Given the description of an element on the screen output the (x, y) to click on. 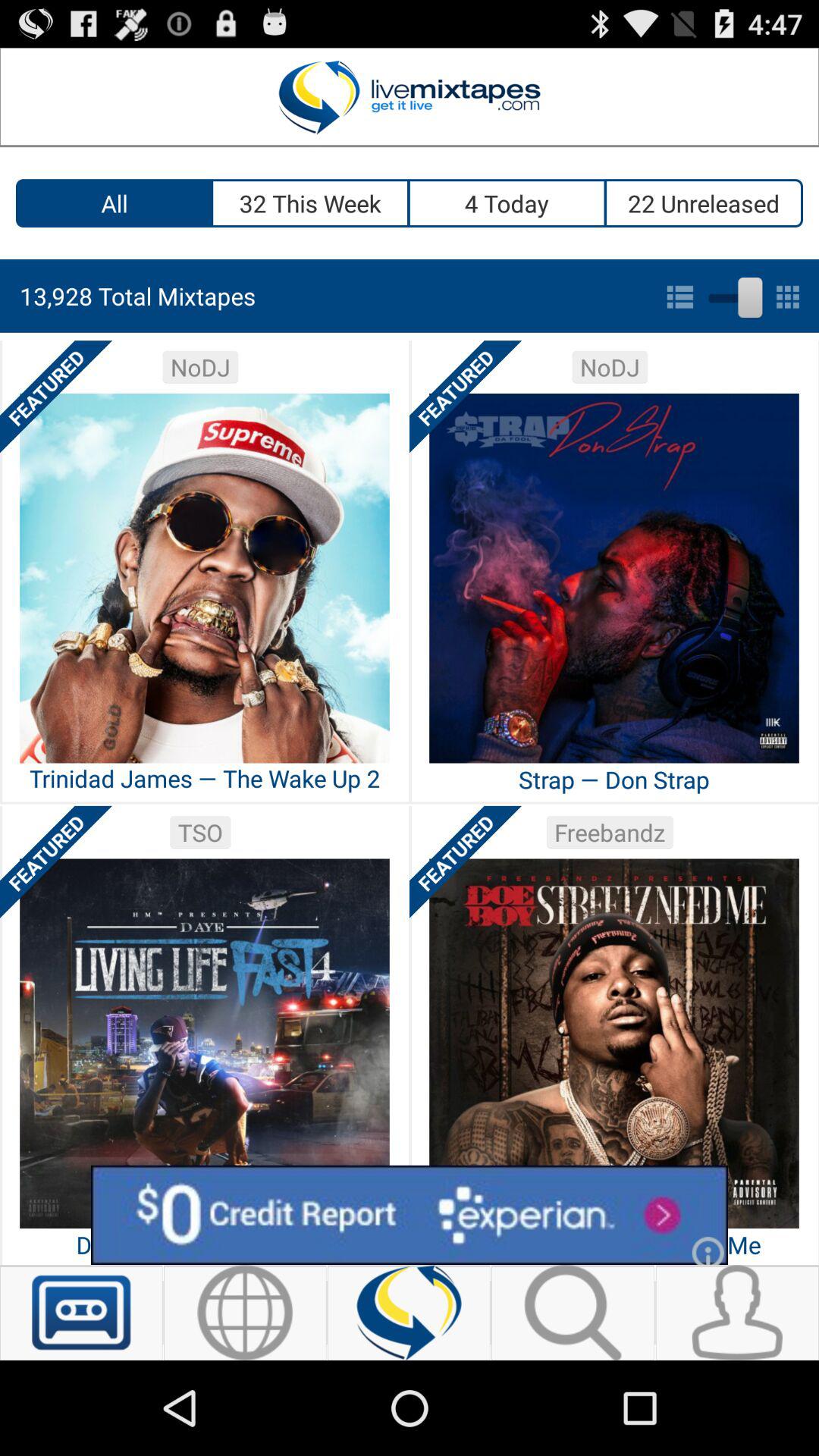
swipe until the 32 this week item (310, 203)
